Given the description of an element on the screen output the (x, y) to click on. 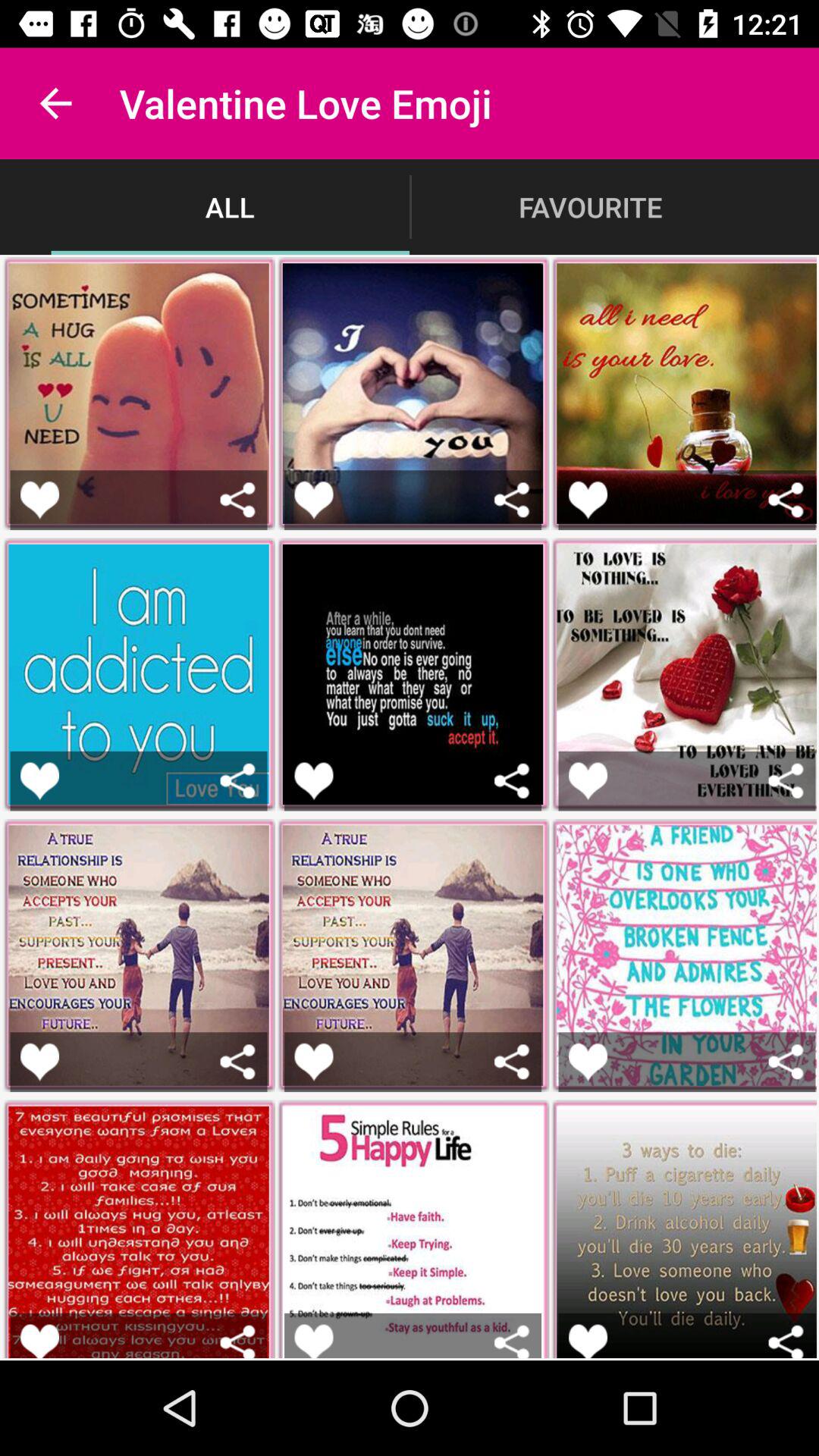
like 5 simple rules for a happy life (313, 1340)
